Given the description of an element on the screen output the (x, y) to click on. 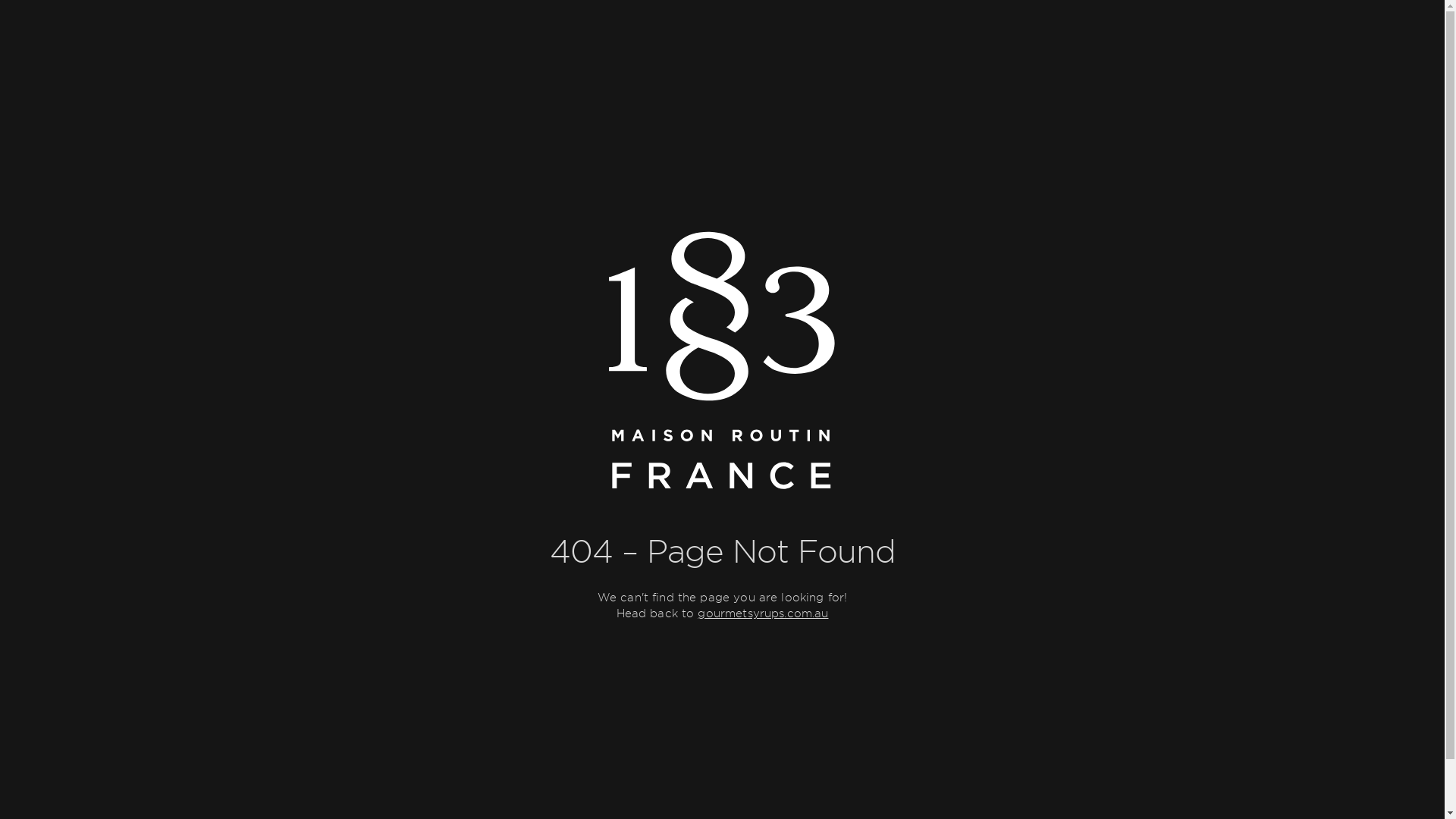
gourmetsyrups.com.au Element type: text (762, 613)
